Given the description of an element on the screen output the (x, y) to click on. 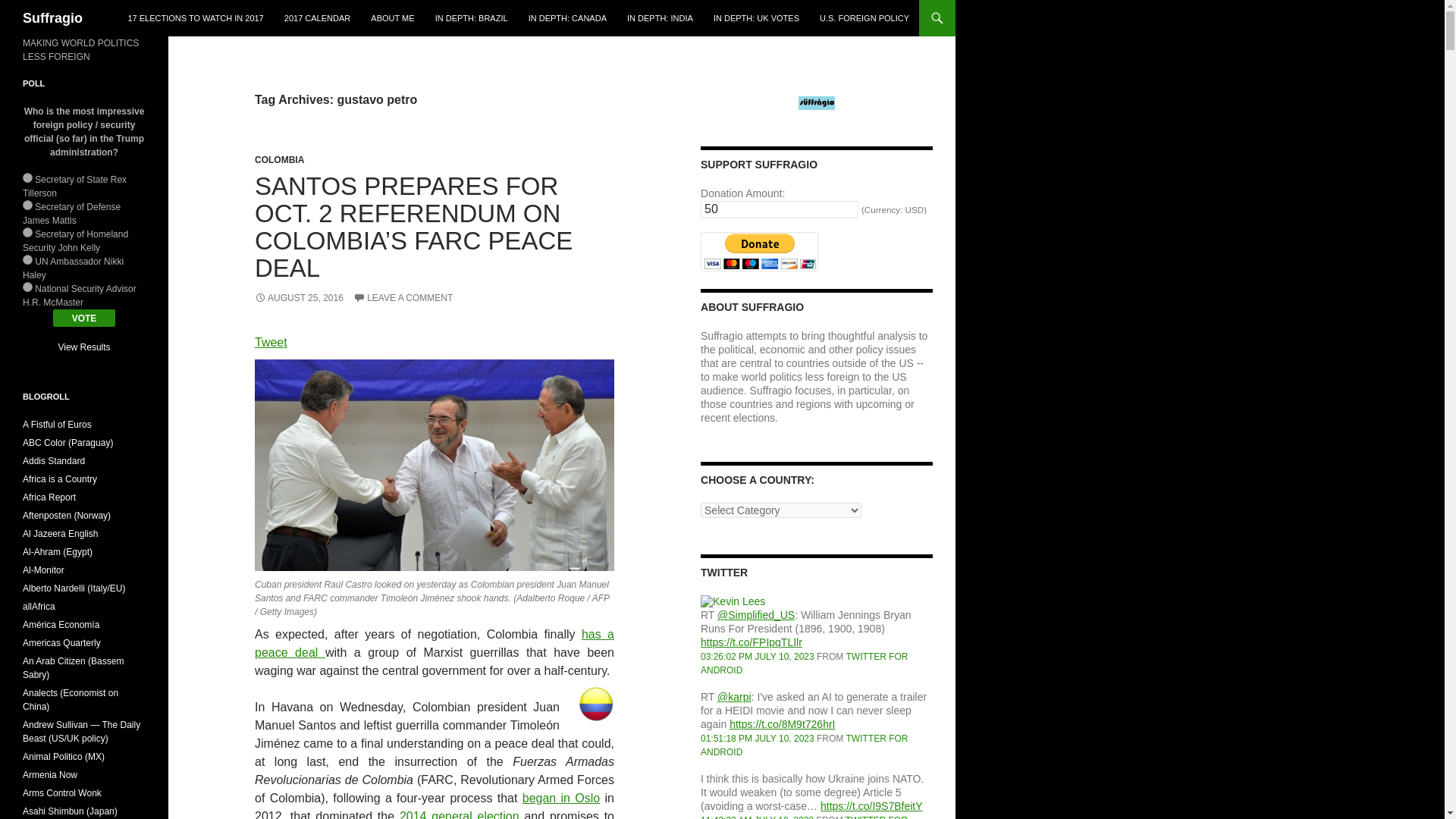
IN DEPTH: UK VOTES (756, 18)
2017 CALENDAR (317, 18)
94 (27, 259)
COLOMBIA (279, 159)
93 (27, 232)
U.S. FOREIGN POLICY (864, 18)
Tweet (270, 341)
ABOUT ME (392, 18)
Suffragio (52, 18)
2014 general election (458, 814)
